Given the description of an element on the screen output the (x, y) to click on. 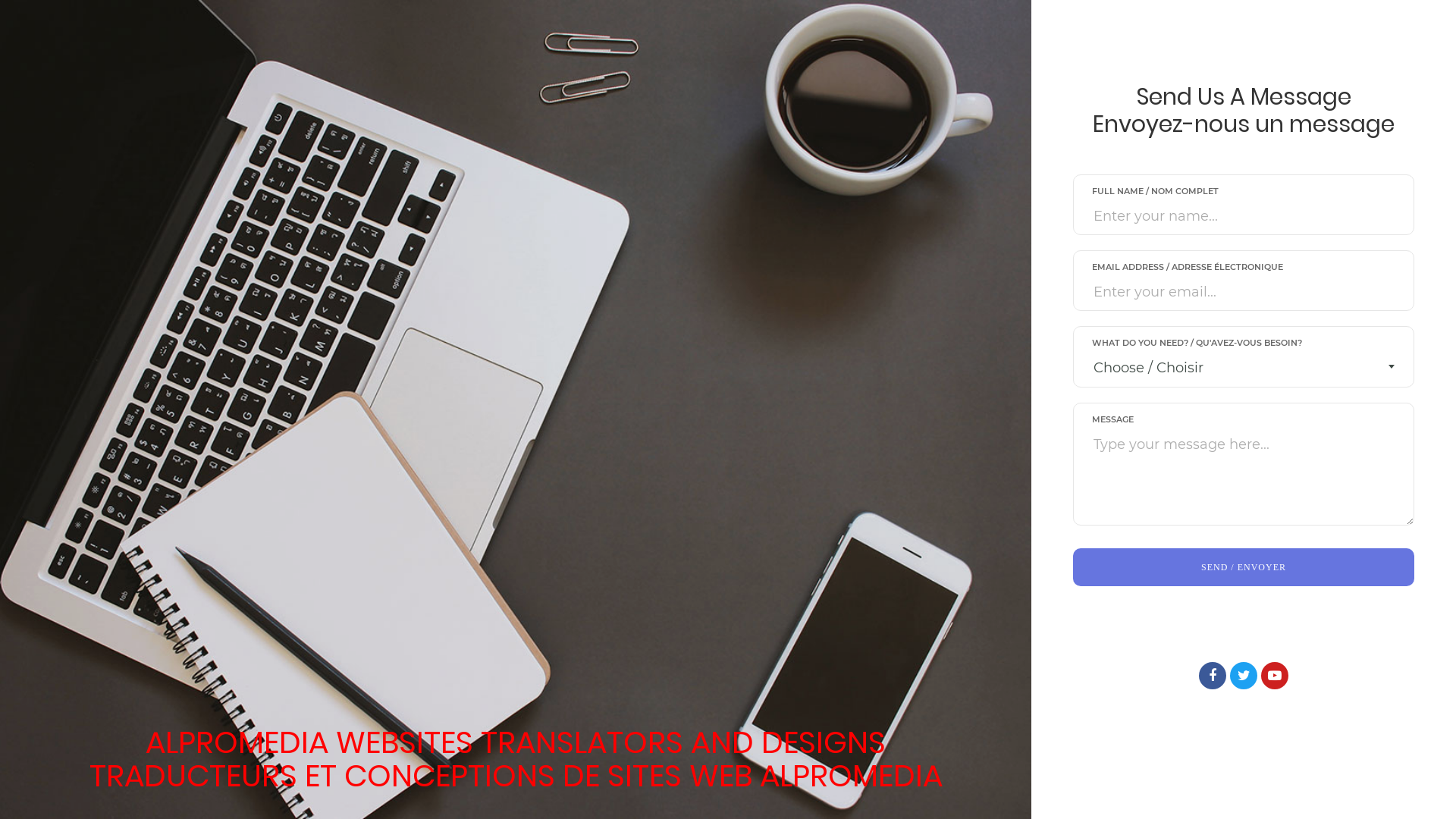
SEND / ENVOYER Element type: text (1243, 567)
